Given the description of an element on the screen output the (x, y) to click on. 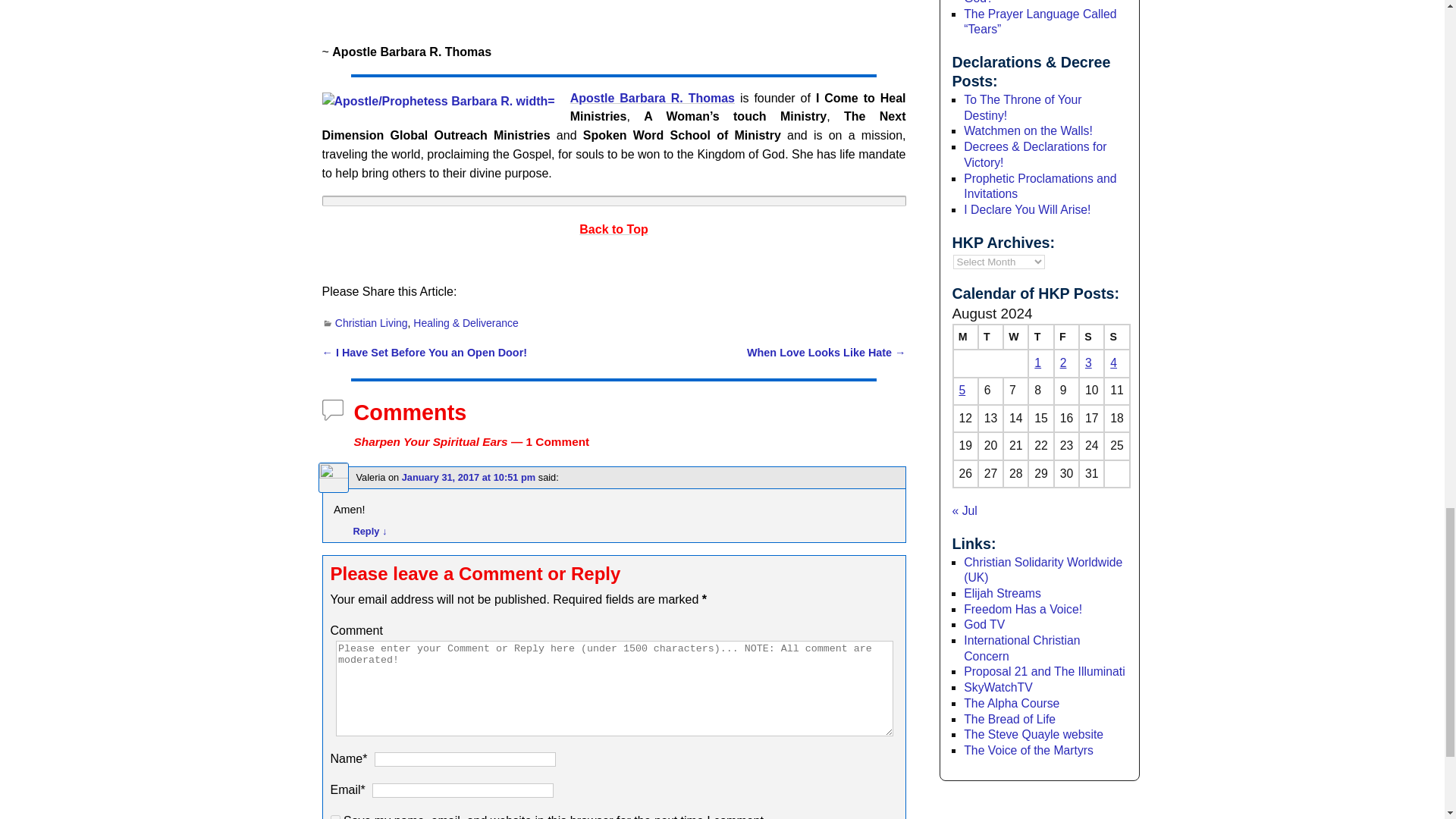
yes (335, 816)
Friday (1066, 336)
Wednesday (1015, 336)
Tuesday (990, 336)
Monday (964, 336)
Thursday (1039, 336)
